Given the description of an element on the screen output the (x, y) to click on. 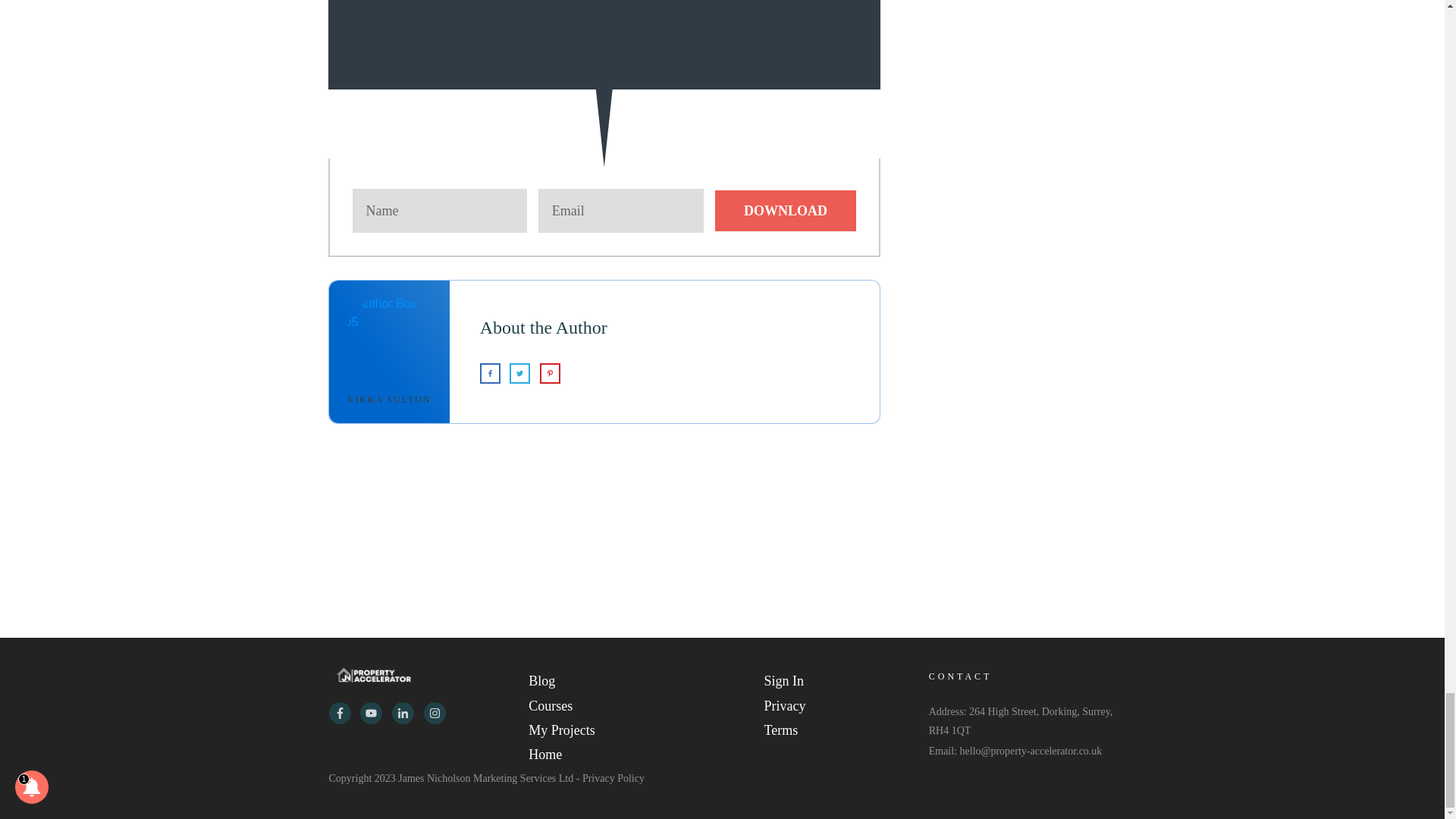
Nikka Sulton (388, 398)
DOWNLOAD (785, 210)
NIKKA SULTON (388, 398)
Author Box 05 (389, 339)
